Given the description of an element on the screen output the (x, y) to click on. 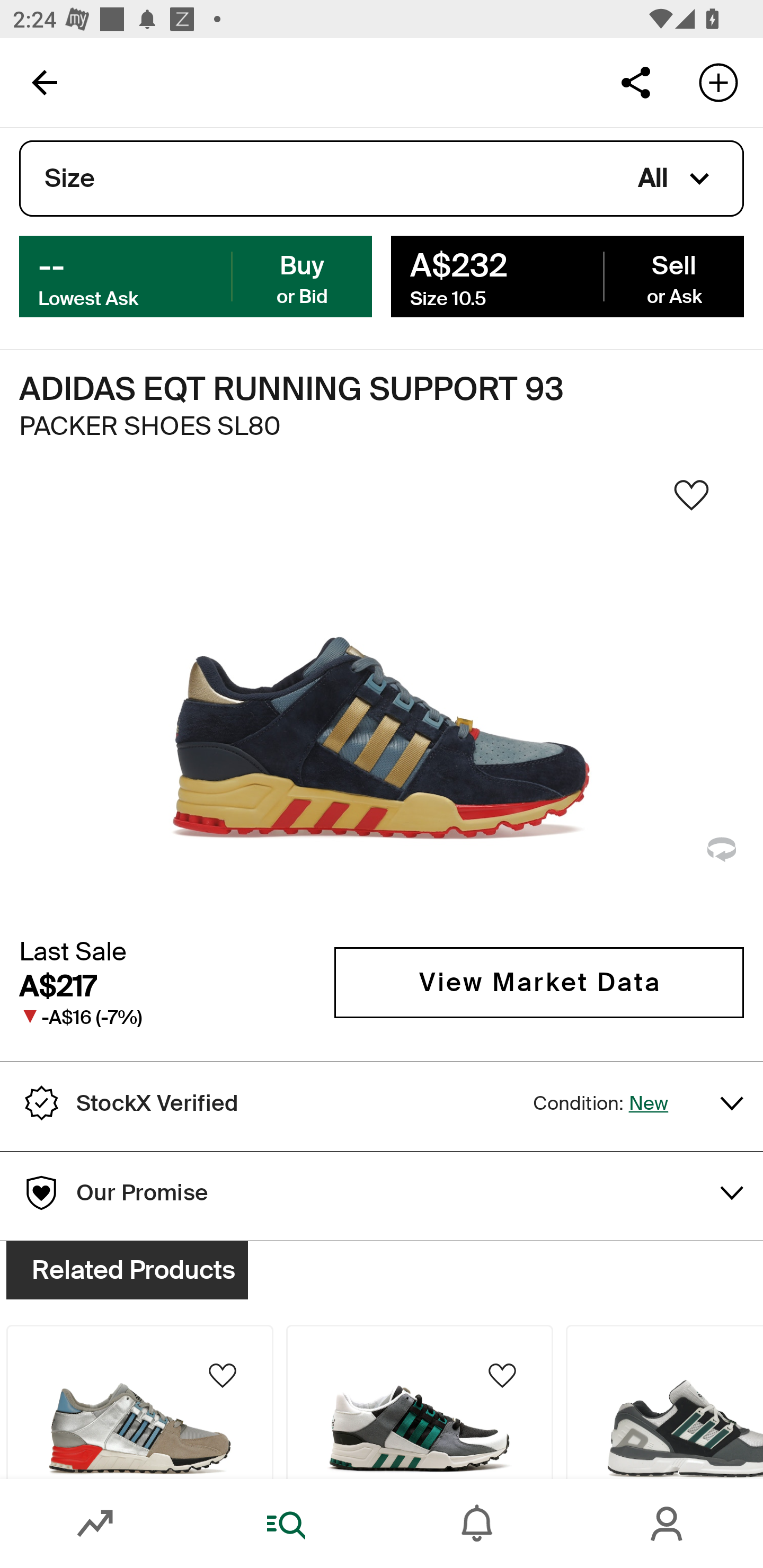
Share (635, 81)
Size All (381, 178)
-- Buy Lowest Ask or Bid (195, 275)
A$232 Sell Size 10.5 or Ask (566, 275)
Sneaker Image (381, 699)
View Market Data (538, 982)
Product Image (139, 1401)
Product Image (419, 1401)
Product Image (664, 1401)
Market (95, 1523)
Inbox (476, 1523)
Account (667, 1523)
